Given the description of an element on the screen output the (x, y) to click on. 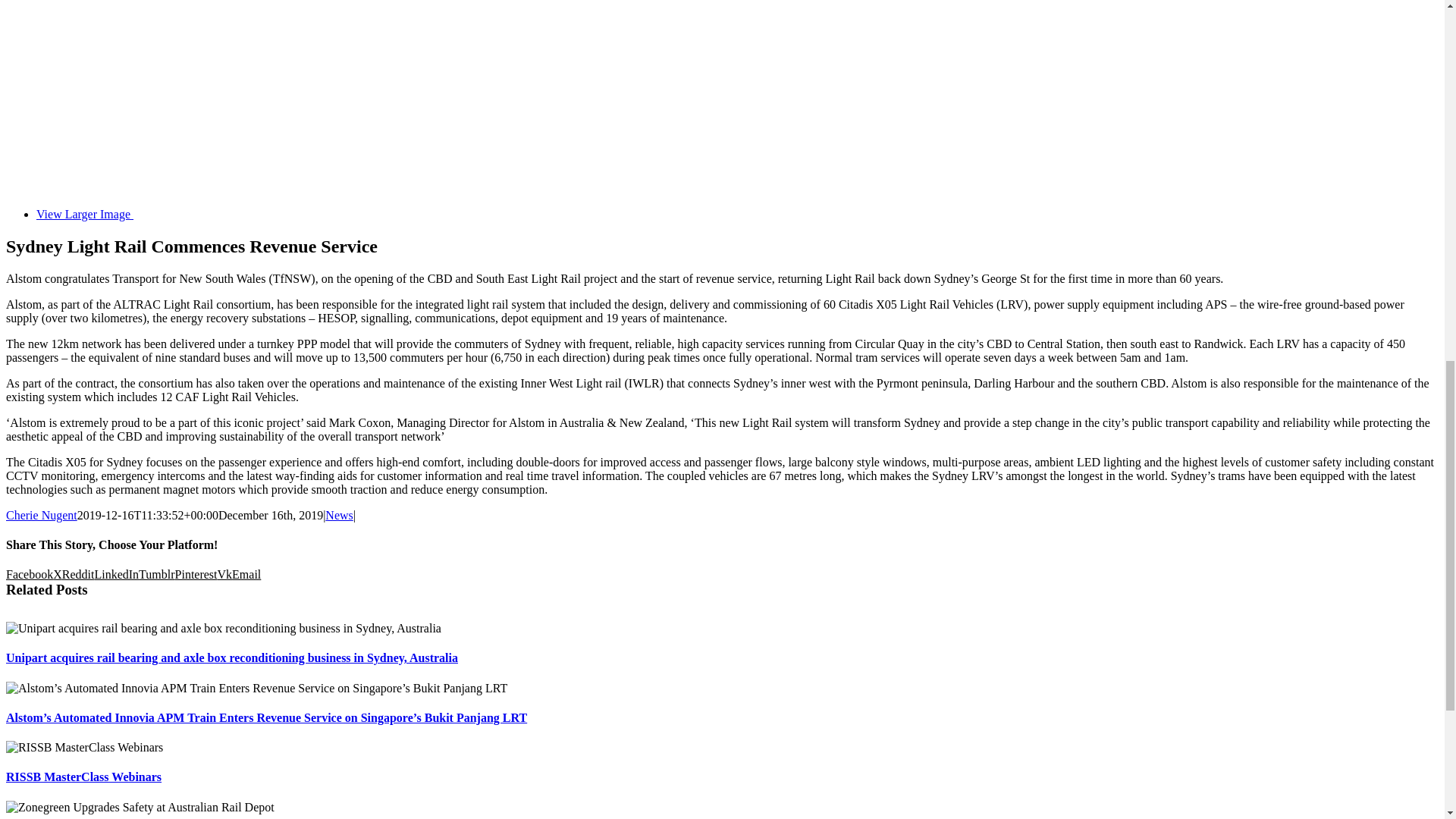
Vk (224, 574)
Tumblr (156, 574)
Facebook (28, 574)
Reddit (78, 574)
Pinterest (195, 574)
View Larger Image (387, 214)
Cherie Nugent (41, 513)
Posts by Cherie Nugent (41, 513)
Facebook (28, 574)
News (338, 513)
